Given the description of an element on the screen output the (x, y) to click on. 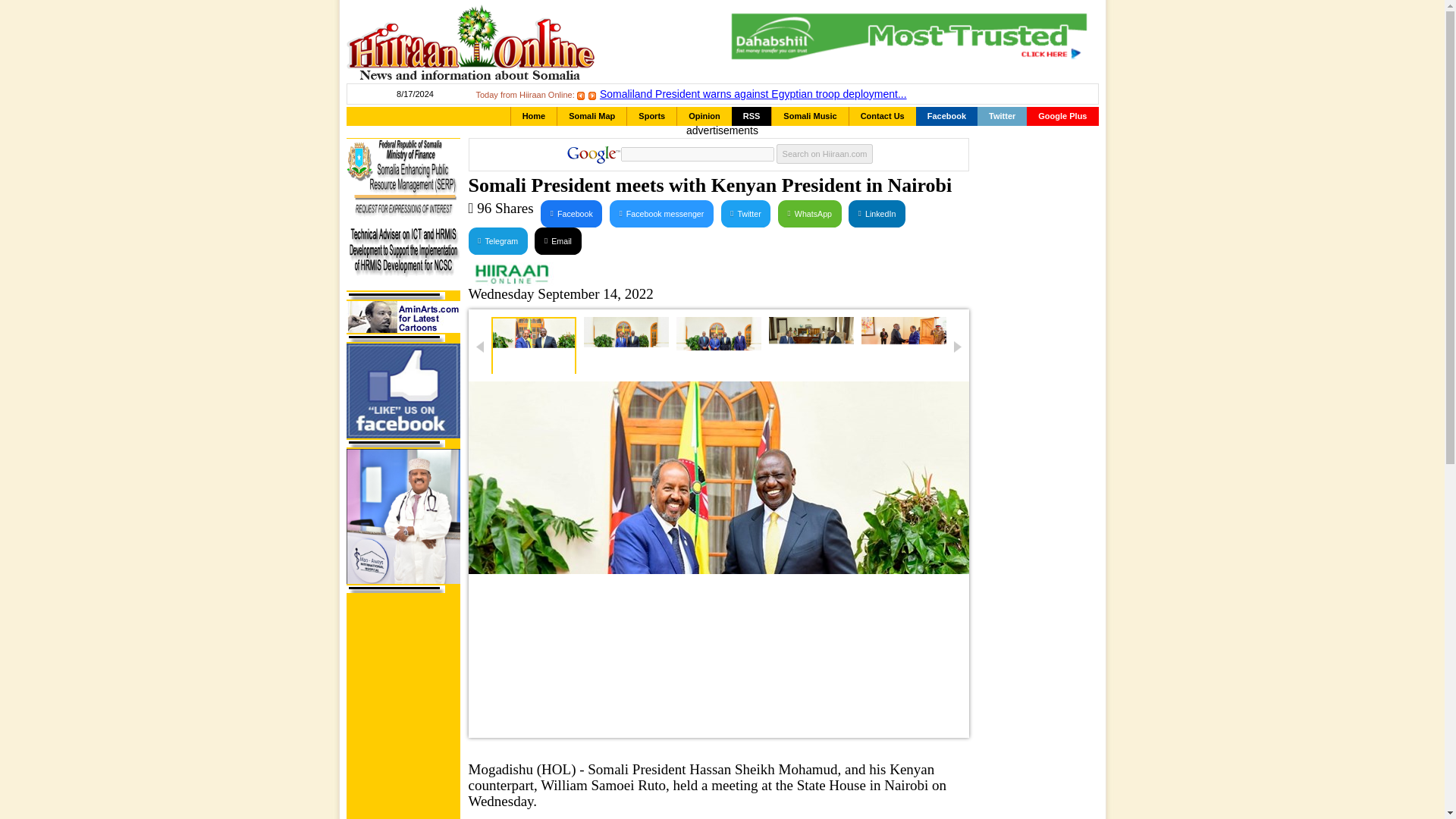
WhatsApp (809, 213)
Search on Hiiraan.com (824, 153)
WhatsApp (809, 213)
Facebook messenger (661, 213)
LinkedIn (876, 213)
Google Plus (1061, 116)
Telegram (497, 240)
RSS (751, 116)
Facebook (945, 116)
Search on Hiiraan.com (824, 153)
